Given the description of an element on the screen output the (x, y) to click on. 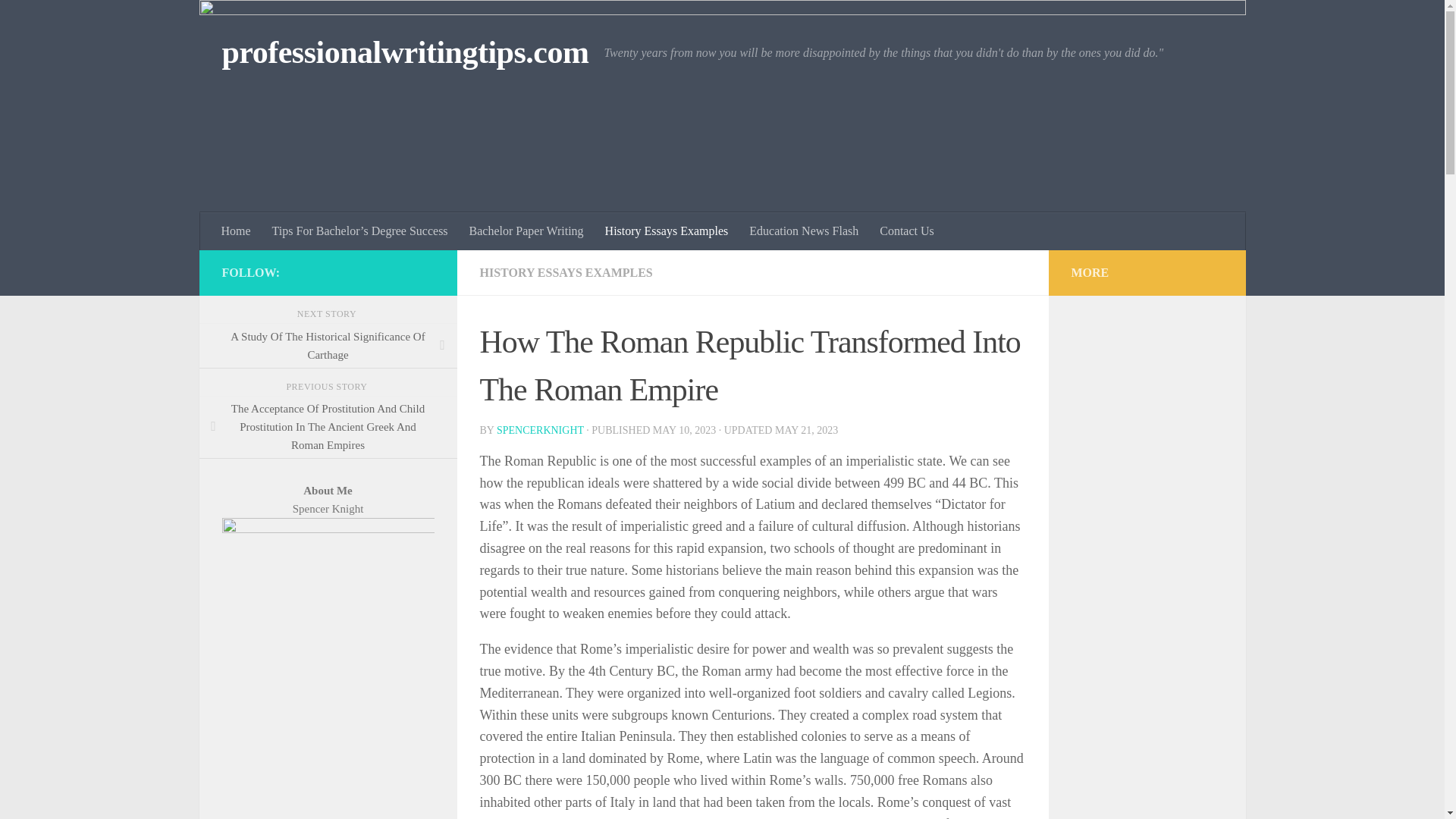
HISTORY ESSAYS EXAMPLES (565, 272)
Posts by spencerknight (539, 430)
Skip to content (59, 20)
Home (236, 231)
professionalwritingtips.com (404, 53)
SPENCERKNIGHT (539, 430)
A Study Of The Historical Significance Of Carthage (327, 345)
Contact Us (906, 231)
Education News Flash (803, 231)
